Given the description of an element on the screen output the (x, y) to click on. 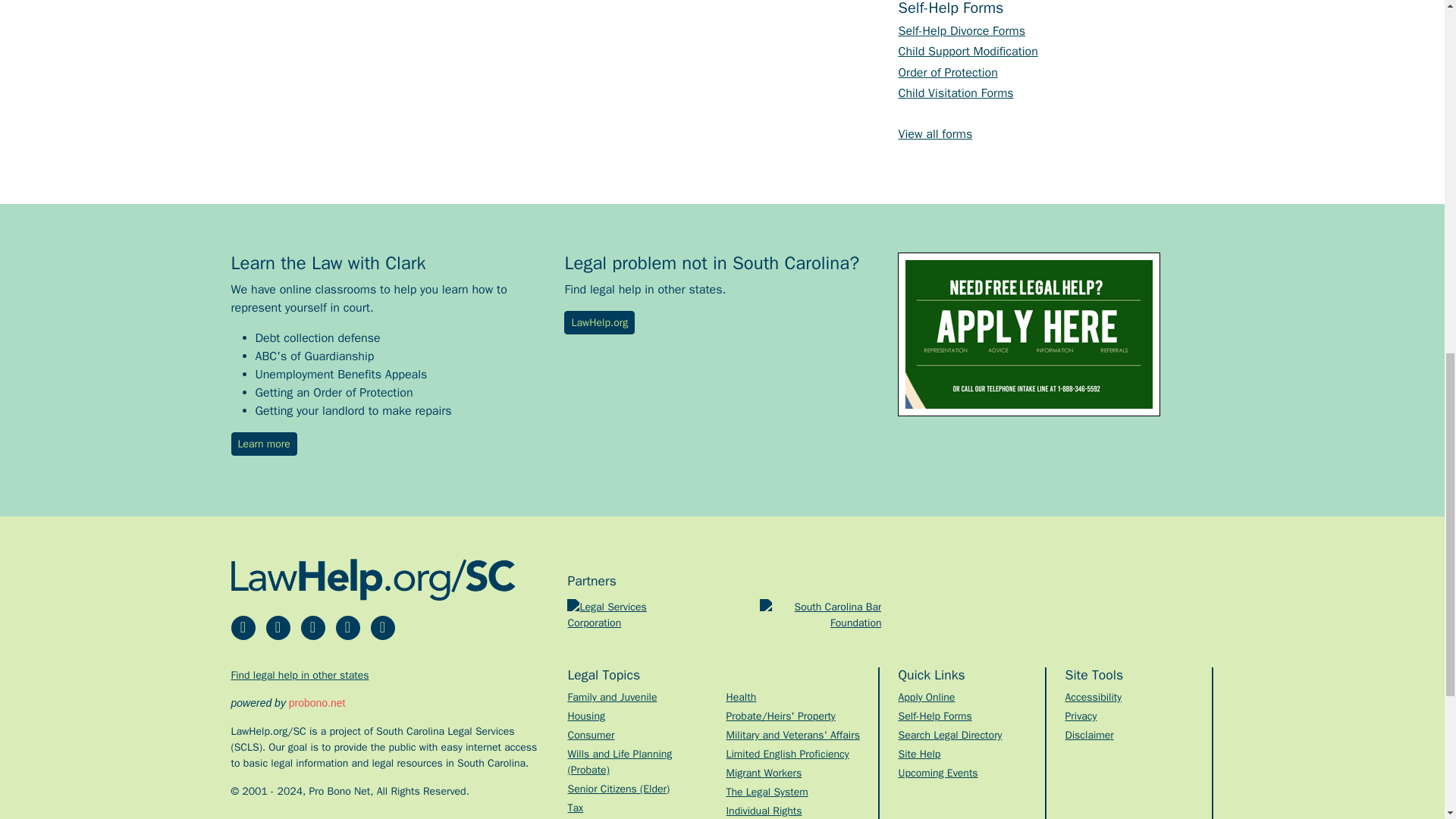
facebook (242, 627)
